Given the description of an element on the screen output the (x, y) to click on. 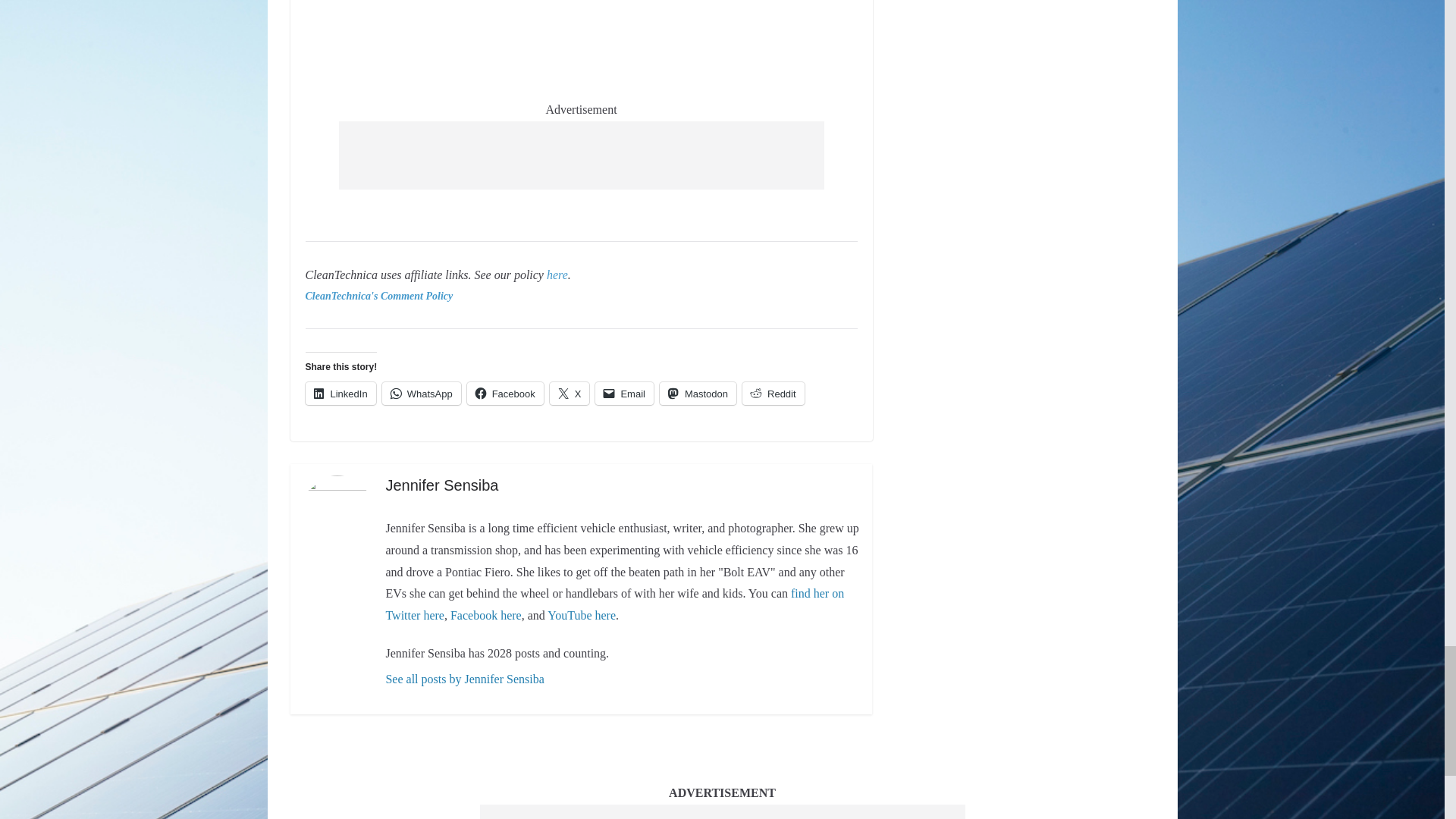
Click to email a link to a friend (624, 393)
Click to share on Reddit (773, 393)
Click to share on LinkedIn (339, 393)
Click to share on Mastodon (697, 393)
Click to share on WhatsApp (421, 393)
Click to share on X (569, 393)
Click to share on Facebook (505, 393)
